Given the description of an element on the screen output the (x, y) to click on. 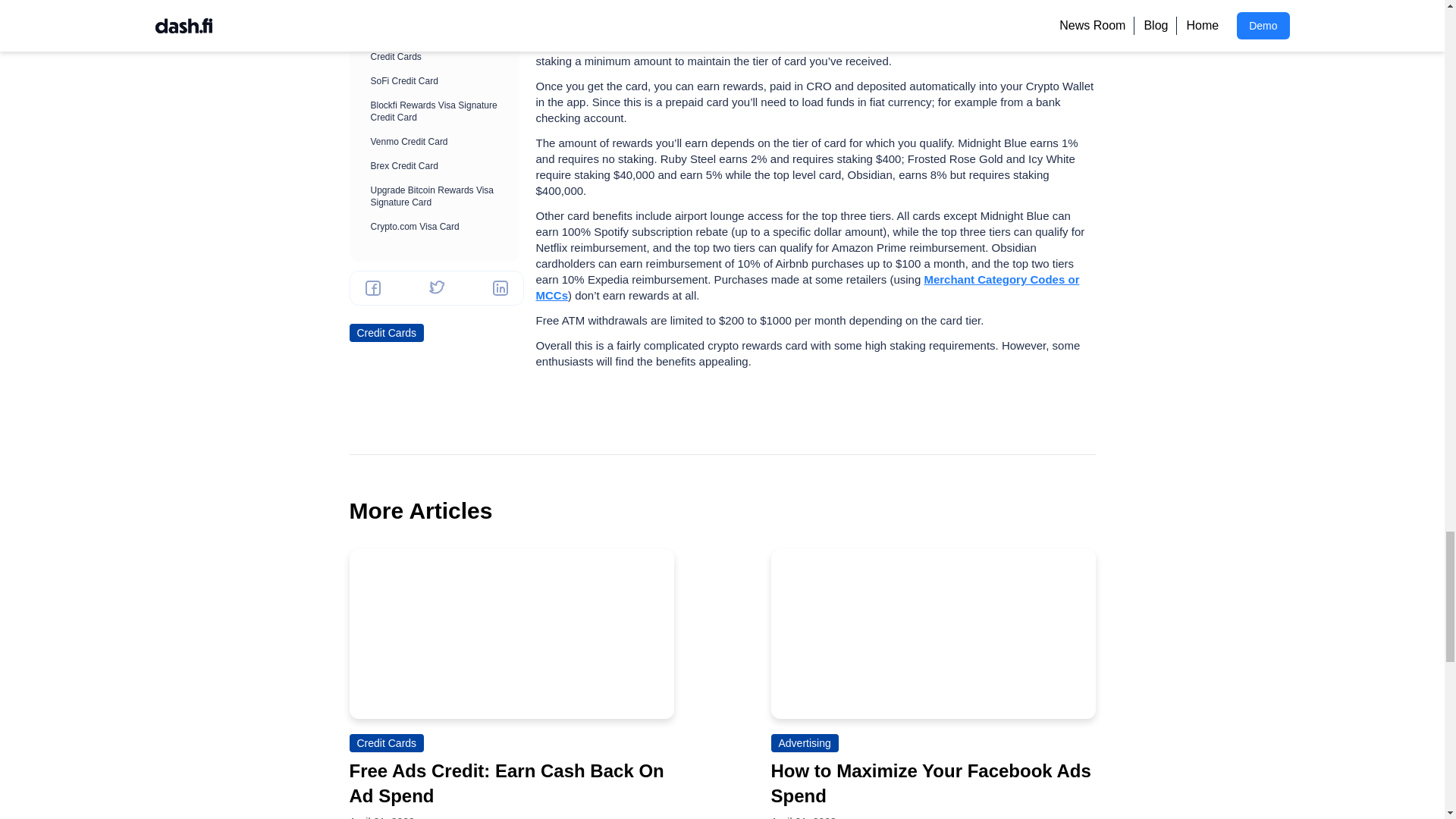
Merchant Category Codes or MCCs (806, 287)
Crypto.com Visa Card (618, 12)
